Given the description of an element on the screen output the (x, y) to click on. 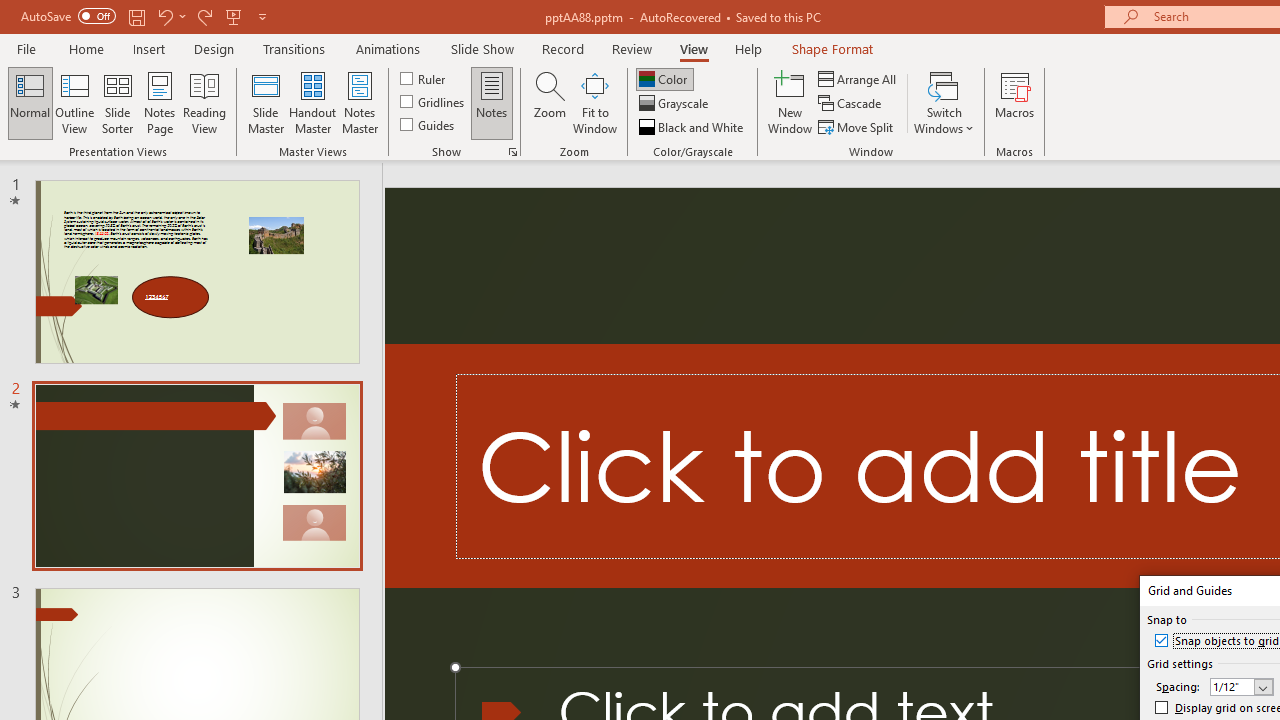
Outline View (74, 102)
Slide Master (265, 102)
Macros (1014, 102)
Switch Windows (943, 102)
Zoom... (549, 102)
Spacing (1241, 687)
Cascade (851, 103)
